Given the description of an element on the screen output the (x, y) to click on. 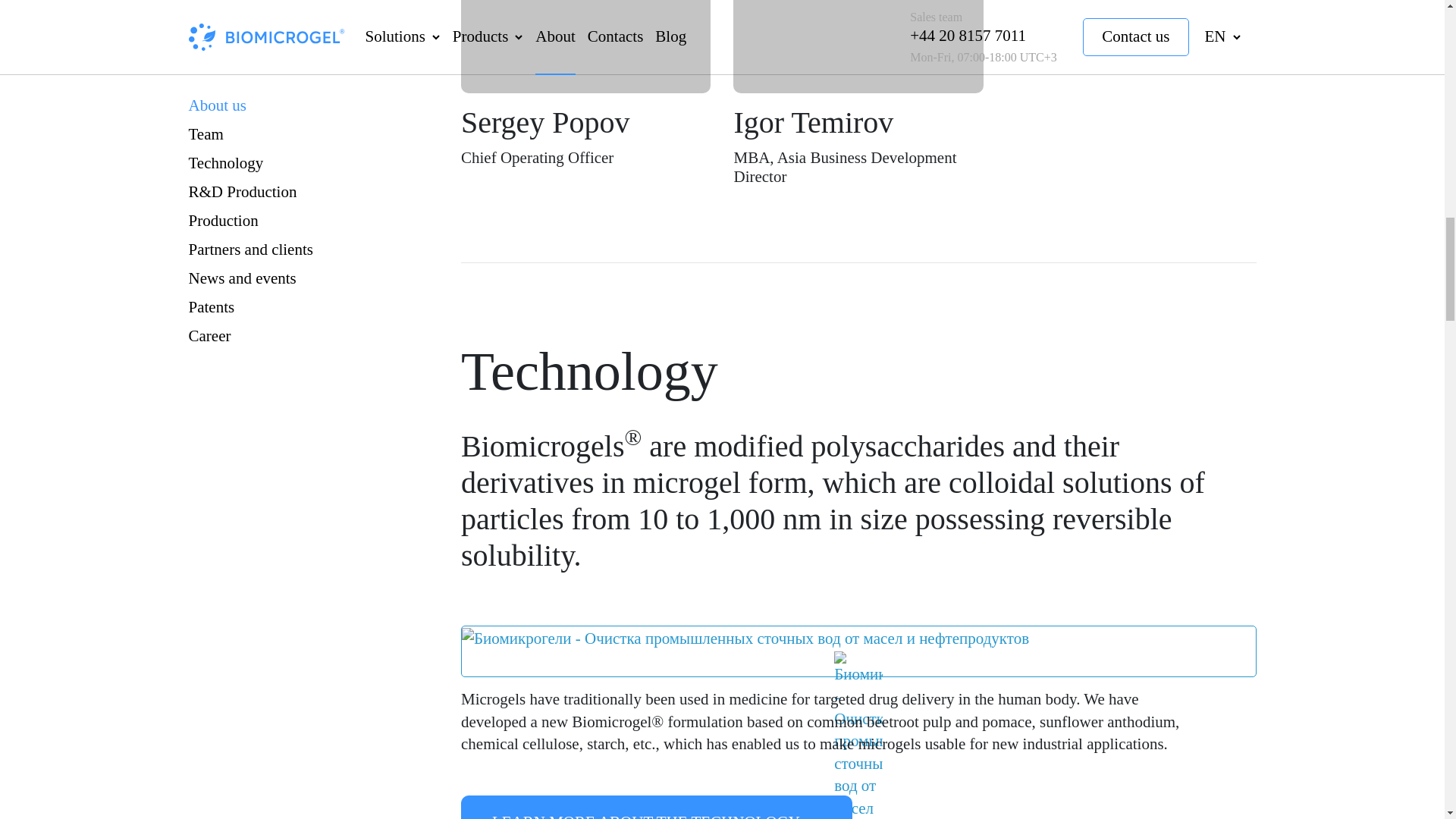
LEARN MORE ABOUT THE TECHNOLOGY (656, 807)
